Given the description of an element on the screen output the (x, y) to click on. 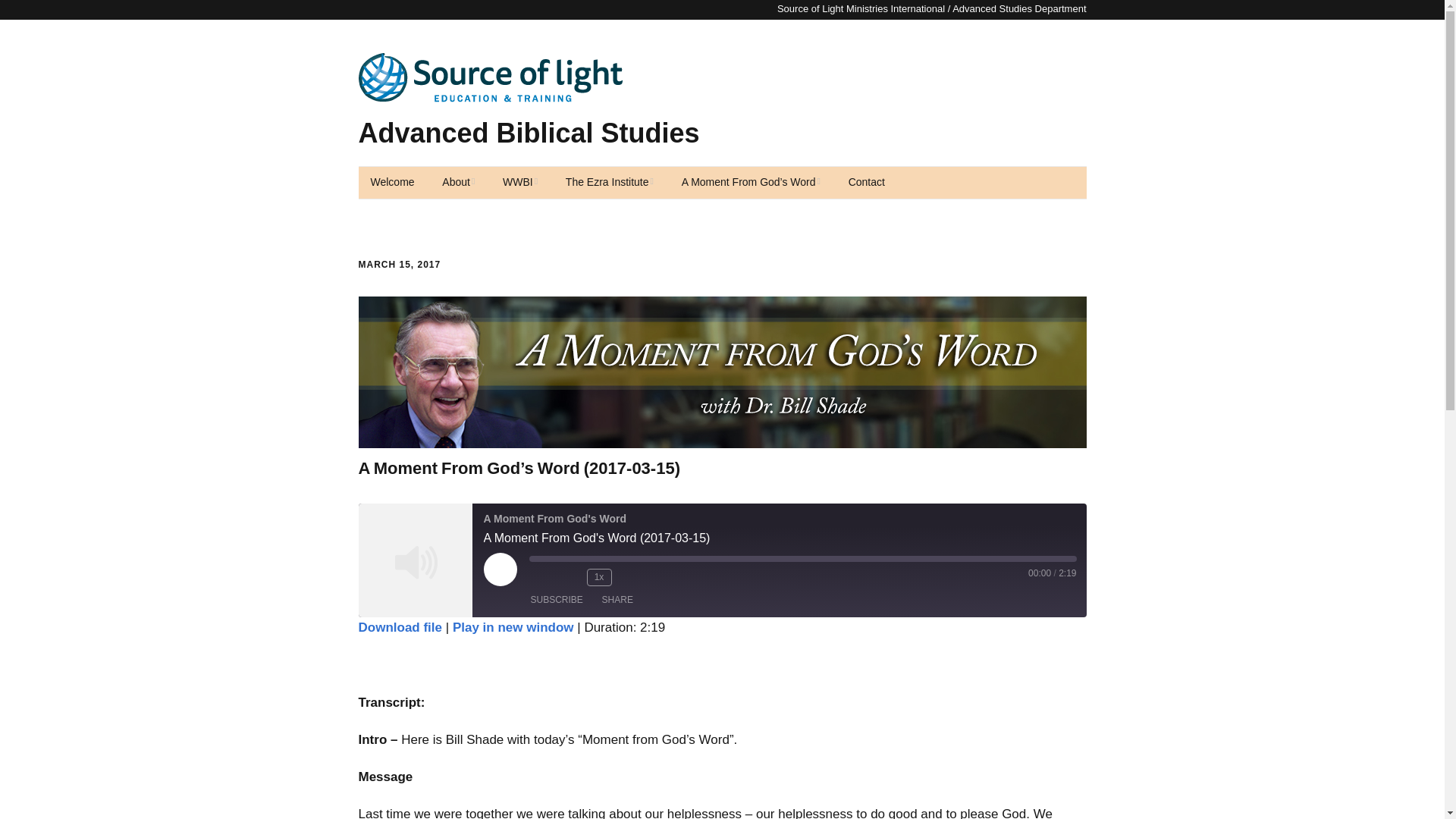
1x (598, 577)
Rewind 10 seconds (571, 576)
Play (499, 569)
Fast Forward 30 seconds (632, 576)
SHARE (617, 599)
About (457, 183)
Share (617, 599)
SUBSCRIBE (556, 599)
The Ezra Institute (609, 183)
A Moment From God's Word (414, 560)
Contact (865, 183)
Welcome (392, 183)
Playback Speed (598, 577)
Subscribe (556, 599)
